Given the description of an element on the screen output the (x, y) to click on. 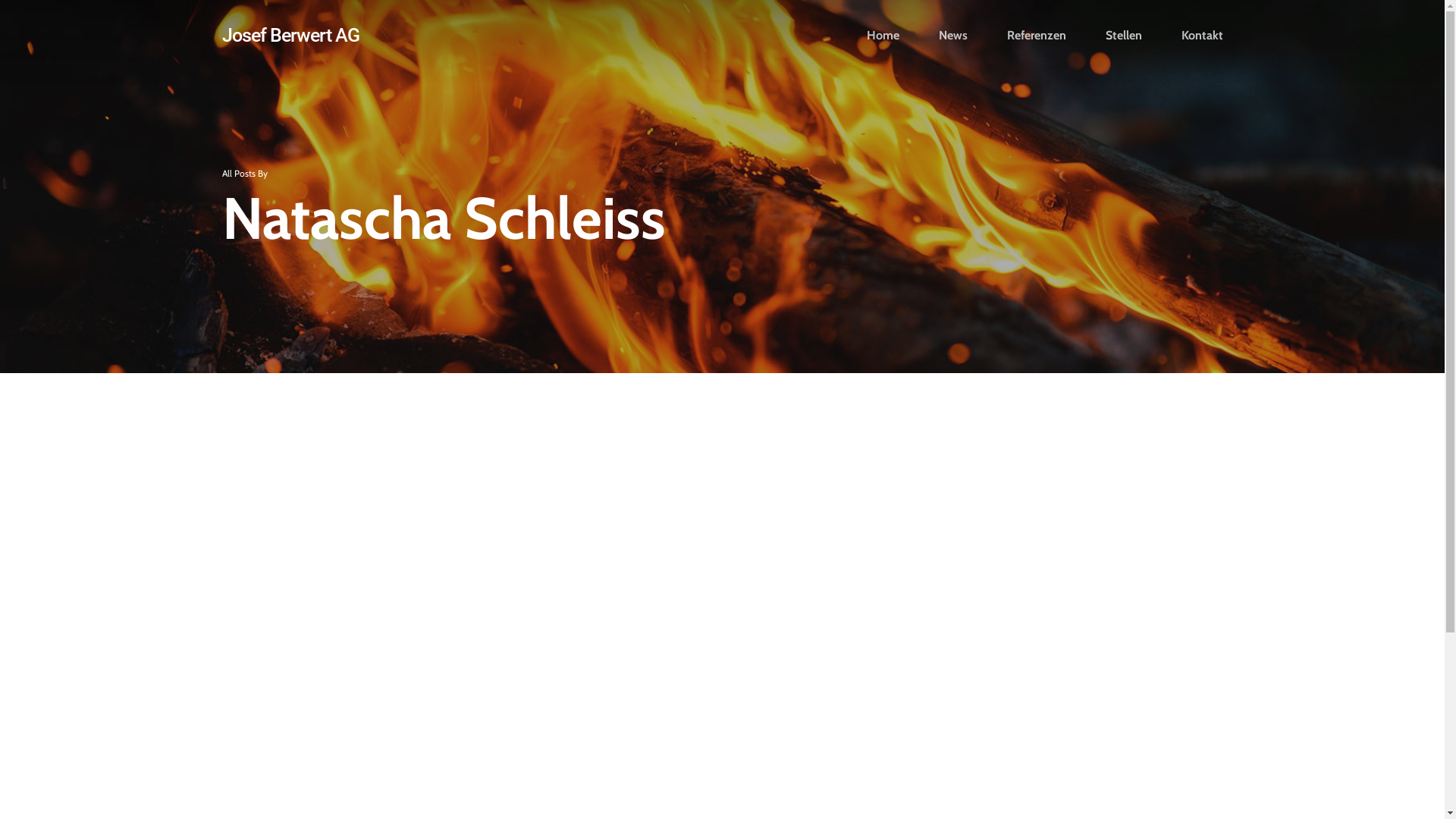
Referenzen Element type: text (1036, 34)
Kontakt Element type: text (1202, 34)
News Element type: text (952, 34)
Josef Berwert AG Element type: text (289, 34)
Home Element type: text (882, 34)
Stellen Element type: text (1123, 34)
